Given the description of an element on the screen output the (x, y) to click on. 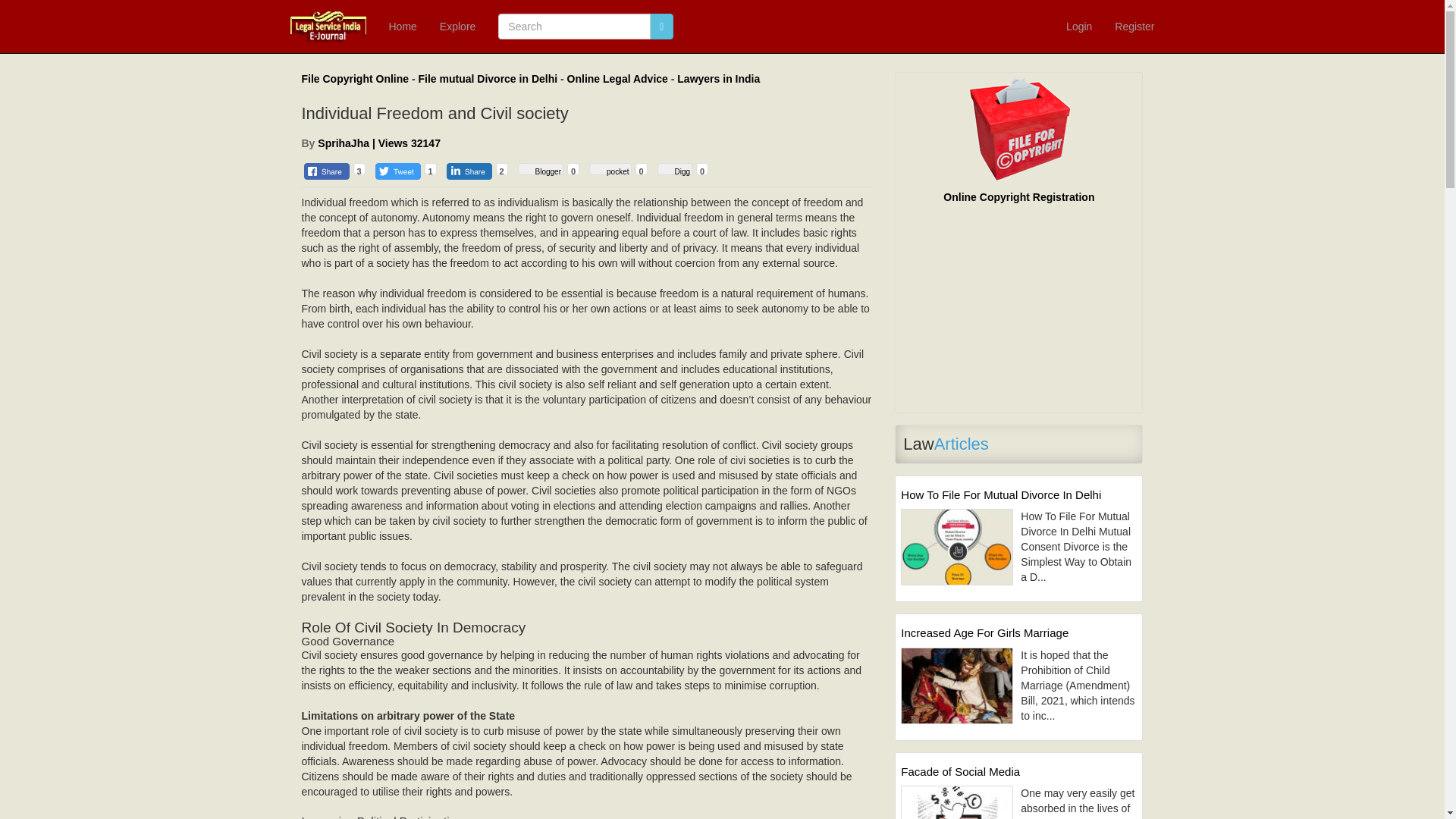
Login (1078, 26)
Explore (457, 26)
Copyright (355, 78)
Online Legal Advice (617, 78)
Register (1134, 26)
Home (402, 26)
File mutual Divorce in Delhi (488, 78)
File Copyright Online (355, 78)
Lawyers in India (718, 78)
